Given the description of an element on the screen output the (x, y) to click on. 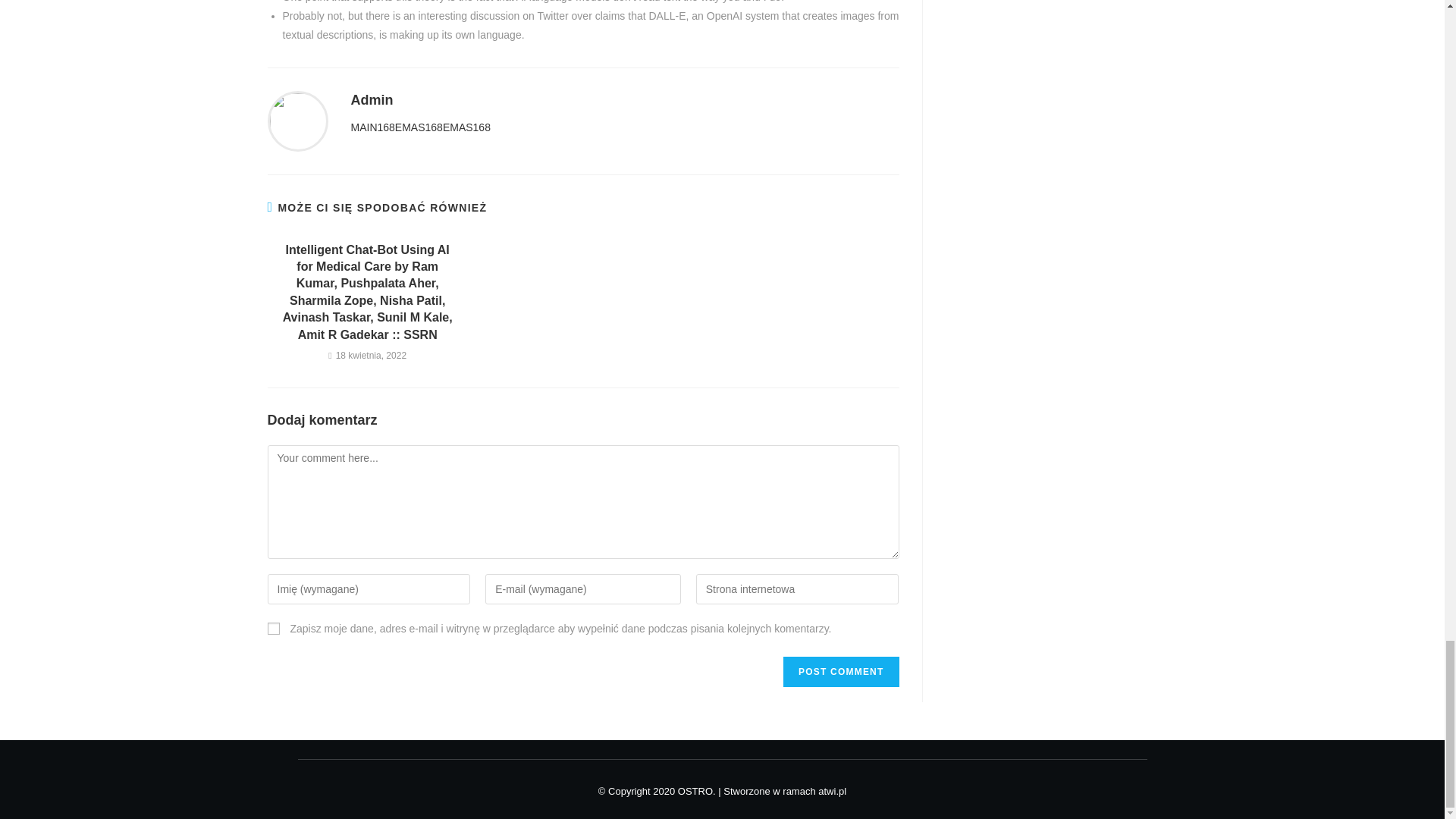
Visit Author Page (371, 99)
Visit Author Page (296, 120)
Post Comment (840, 671)
yes (272, 628)
Post Comment (840, 671)
EMAS168 (466, 127)
Admin (371, 99)
atwi.pl (831, 790)
MAIN168 (372, 127)
EMAS168 (418, 127)
